Given the description of an element on the screen output the (x, y) to click on. 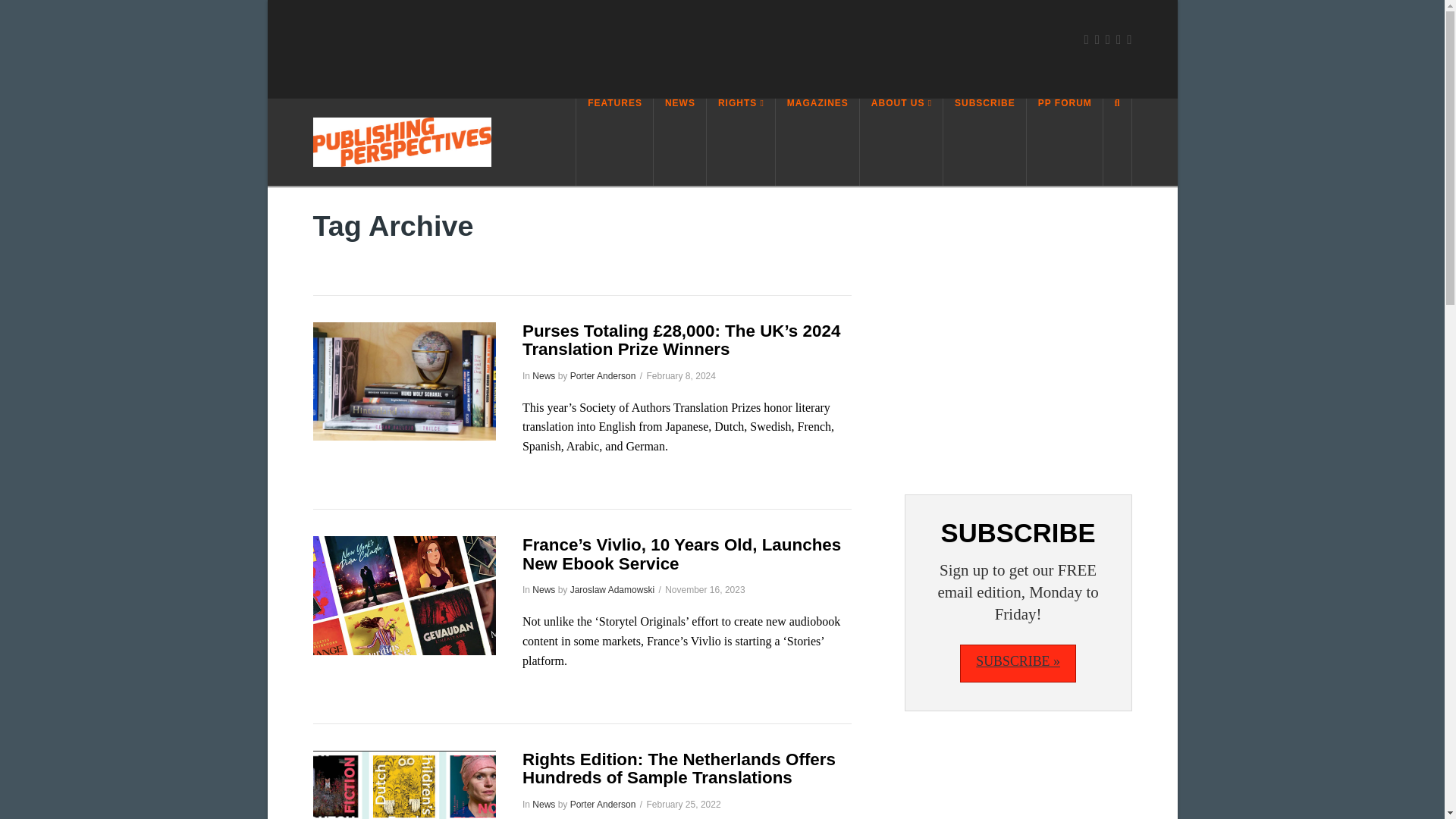
News (543, 376)
ABOUT US (901, 141)
LinkedIn (1107, 39)
FEATURES (614, 141)
Jaroslaw Adamowski (611, 589)
NEWS (679, 141)
Facebook (1085, 39)
MAGAZINES (818, 141)
PP FORUM (1064, 141)
SUBSCRIBE (984, 141)
RSS (1128, 39)
YouTube (1118, 39)
Porter Anderson (603, 376)
